Given the description of an element on the screen output the (x, y) to click on. 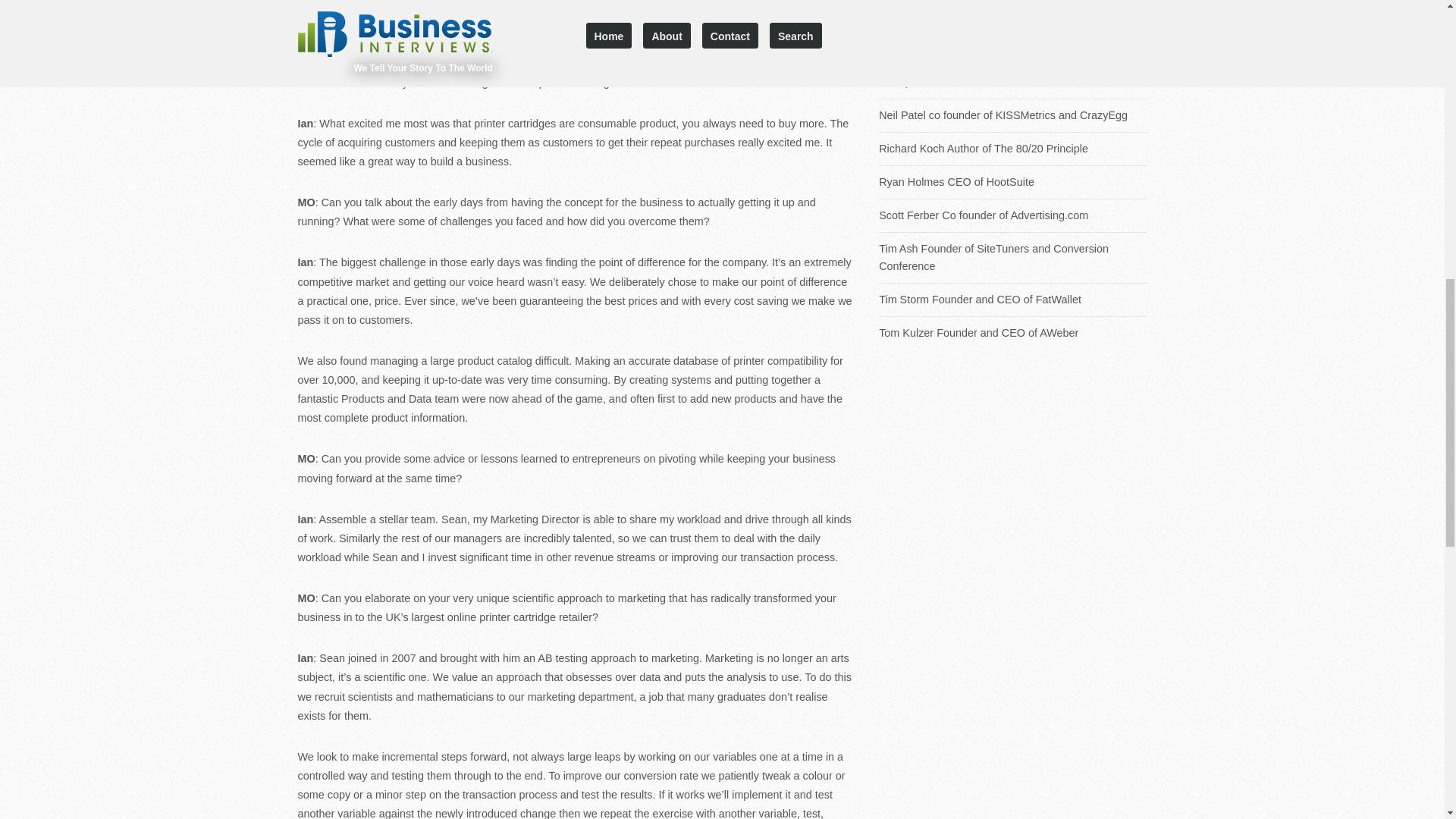
Tom Kulzer Founder and CEO of AWeber (1013, 333)
Neil Patel co founder of KISSMetrics and CrazyEgg (1013, 115)
Scott Ferber Co founder of Advertising.com (1013, 215)
Ryan Holmes CEO of HootSuite (1013, 181)
catridgesave.co.uk (576, 25)
Marc Ostrofsky Business.com and Author of Get Rich Click (1013, 21)
Mike Michalowicz Author of "The Toilet Paper Entrepreneur." (1013, 73)
Tim Storm Founder and CEO of FatWallet (1013, 299)
Tim Ash Founder of SiteTuners and Conversion Conference (1013, 257)
